Given the description of an element on the screen output the (x, y) to click on. 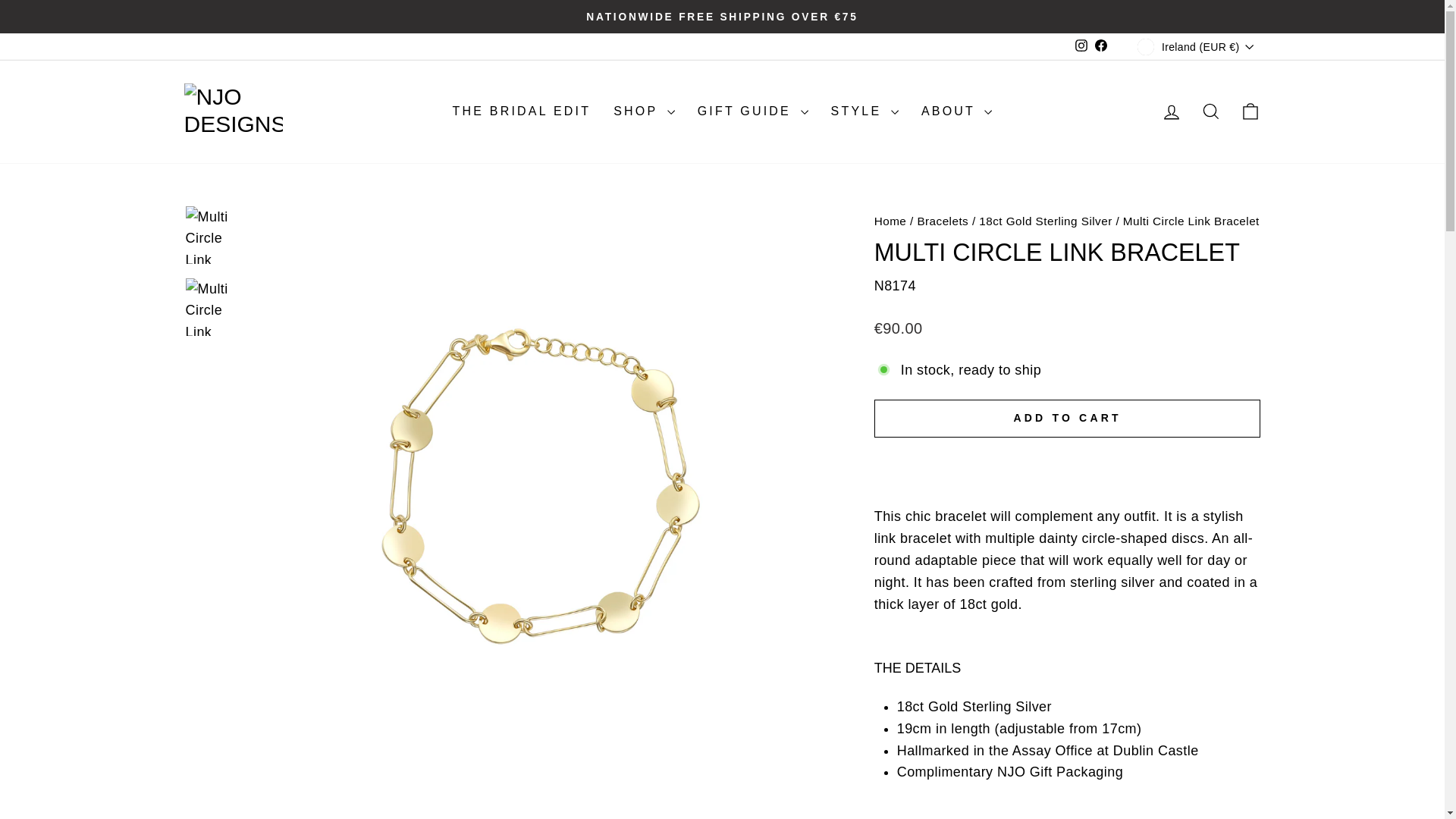
ICON-SEARCH (1210, 111)
18ct Gold Sterling Silver (1045, 220)
instagram (1081, 45)
Bracelets (942, 220)
ICON-BAG-MINIMAL (1249, 111)
ACCOUNT (1170, 111)
Back to the frontpage (891, 220)
